Given the description of an element on the screen output the (x, y) to click on. 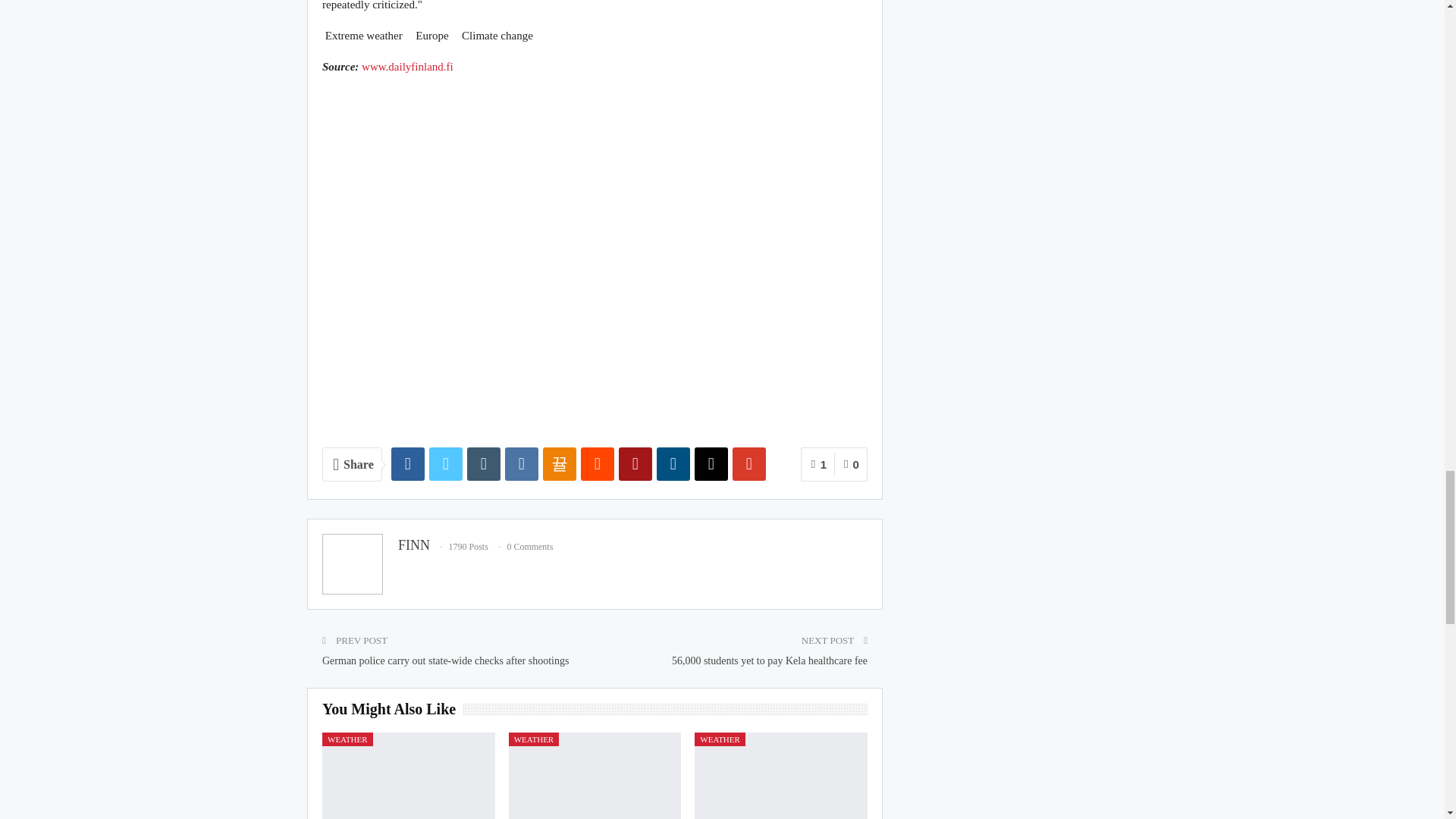
Finland sees cool, stormy October with huge snow (594, 775)
Finland sees colder weather, abundant snow in November (408, 775)
www.dailyfinland.fi (406, 66)
0 (850, 464)
Clock goes back 1 hour as winter time begins Sunday (780, 775)
